Given the description of an element on the screen output the (x, y) to click on. 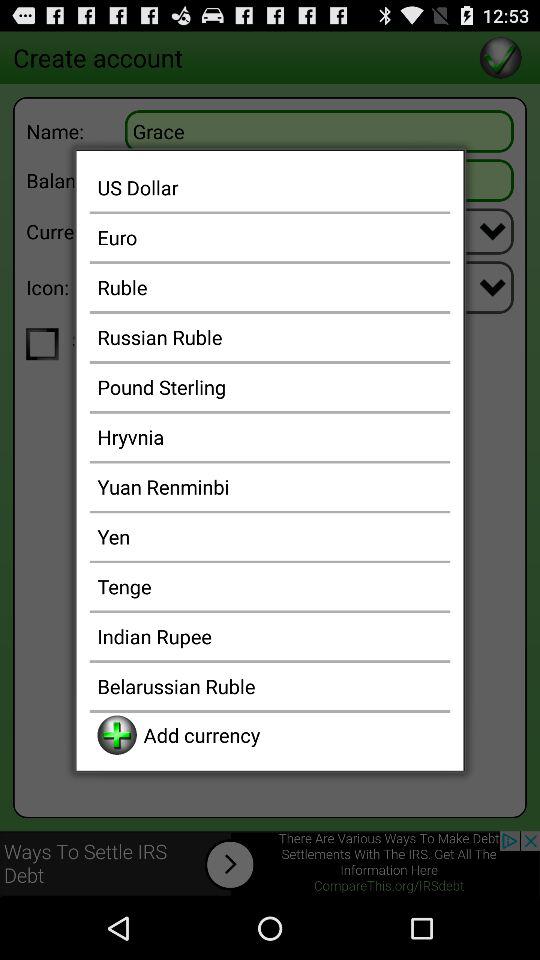
swipe to the euro icon (269, 237)
